Given the description of an element on the screen output the (x, y) to click on. 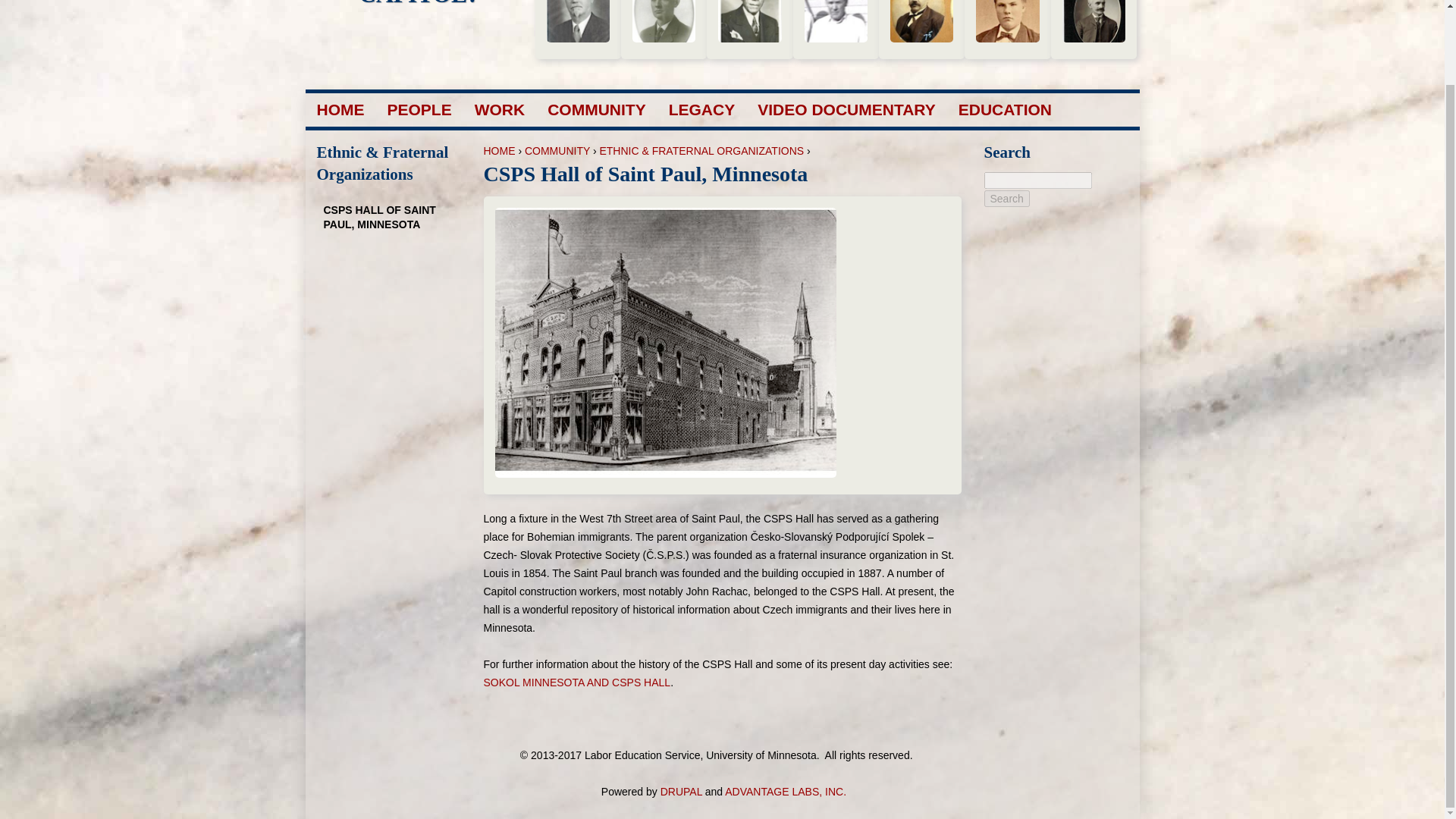
CSPS Hall, Saint Paul, Minnesota (665, 342)
Eric Isaacson (1093, 21)
EDUCATION (1004, 108)
Enter the terms you wish to search for. (1038, 180)
Portrait O. Manke (836, 21)
WORK (499, 108)
HOME (499, 150)
Drupal, the best Open Source CMS (681, 791)
HOME (341, 108)
Portrait E. Butler (663, 21)
ADVANTAGE LABS, INC. (785, 791)
WHO BUILT OUR CAPITOL? (419, 3)
Portrait J. Rachac (921, 21)
Portrait E. Jones (748, 21)
Nils Nelson (577, 21)
